Given the description of an element on the screen output the (x, y) to click on. 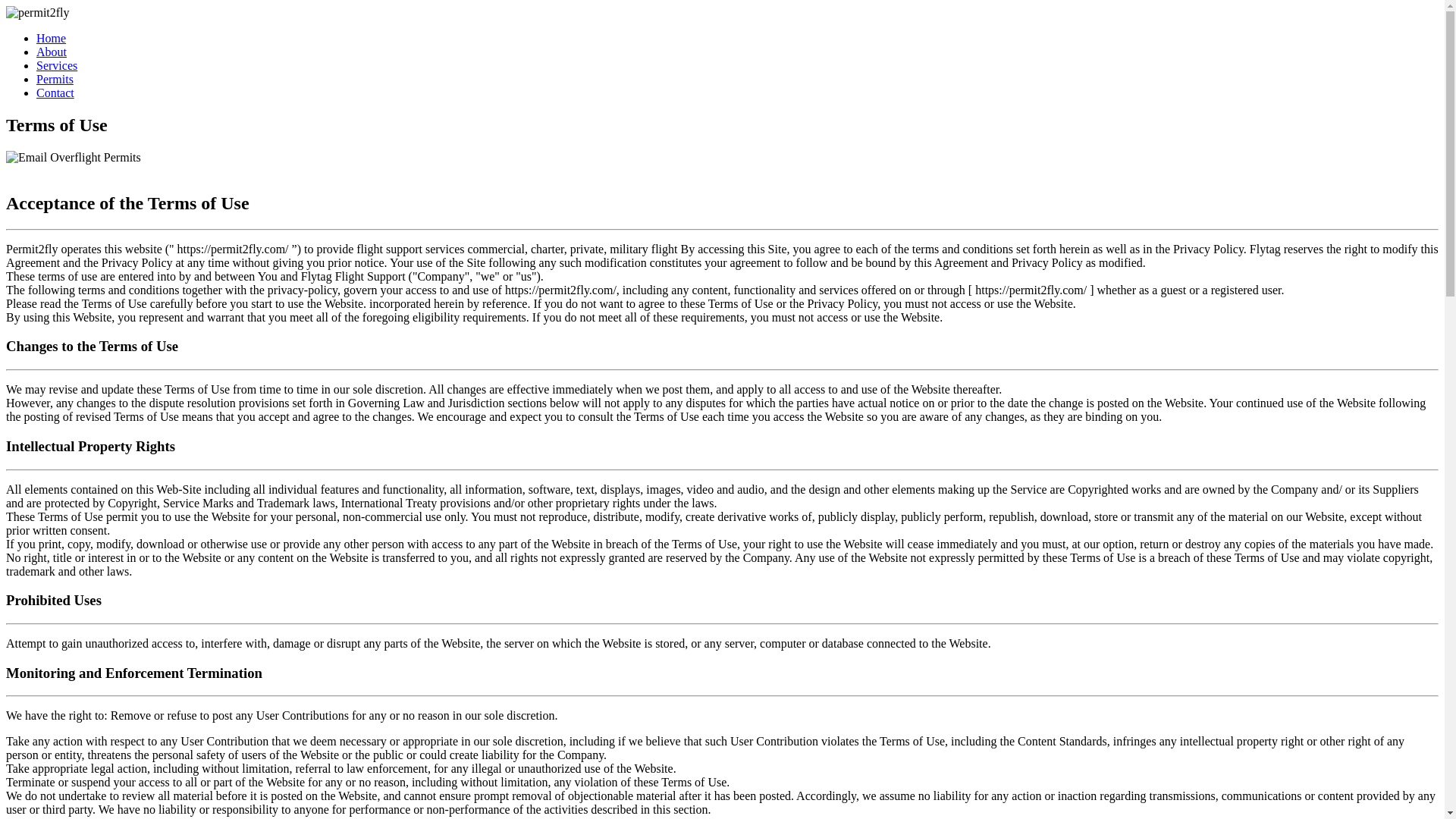
Home (50, 38)
Services (56, 65)
Contact (55, 92)
Permits (55, 78)
About (51, 51)
